Given the description of an element on the screen output the (x, y) to click on. 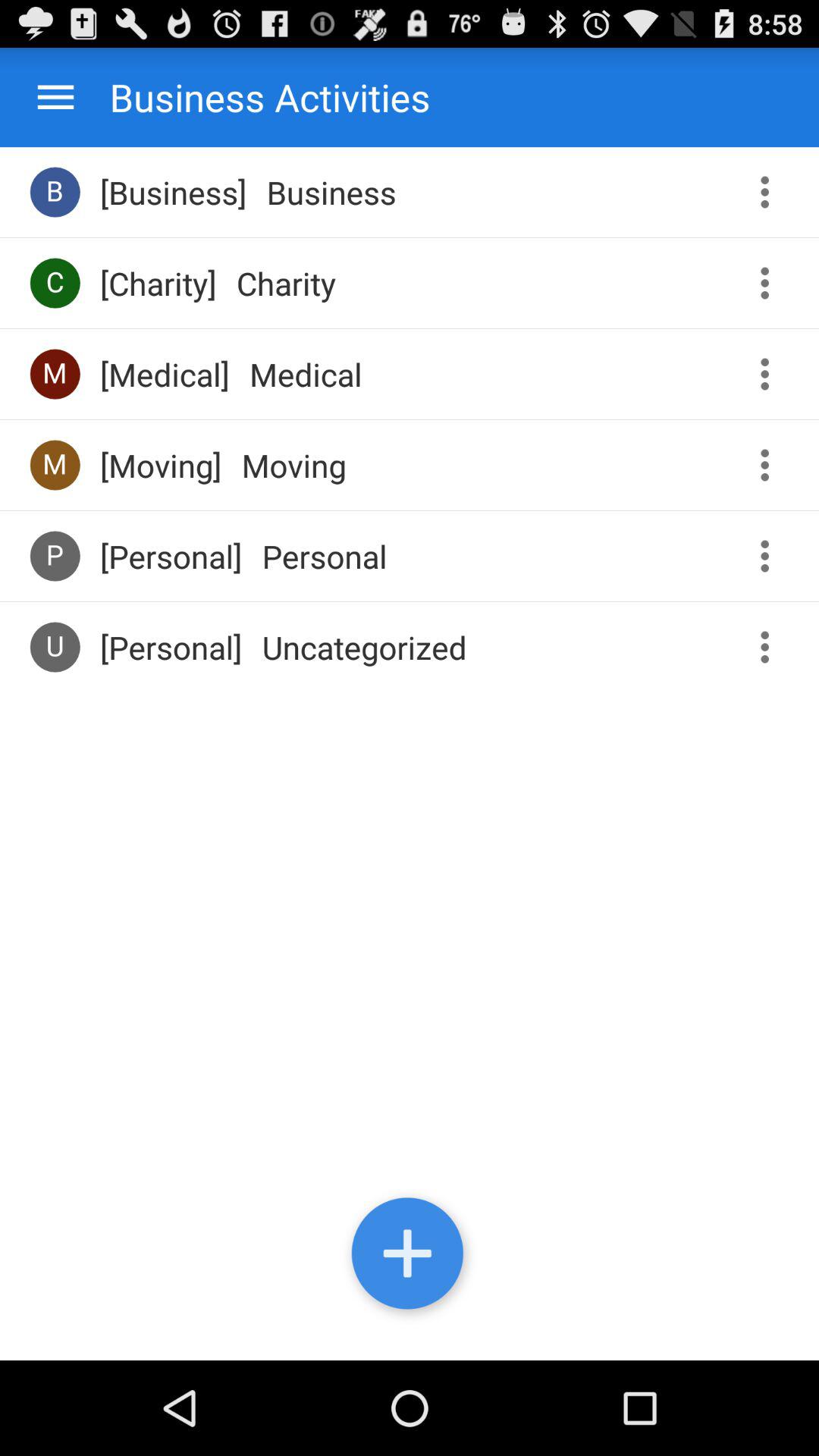
jump to the b (54, 191)
